Given the description of an element on the screen output the (x, y) to click on. 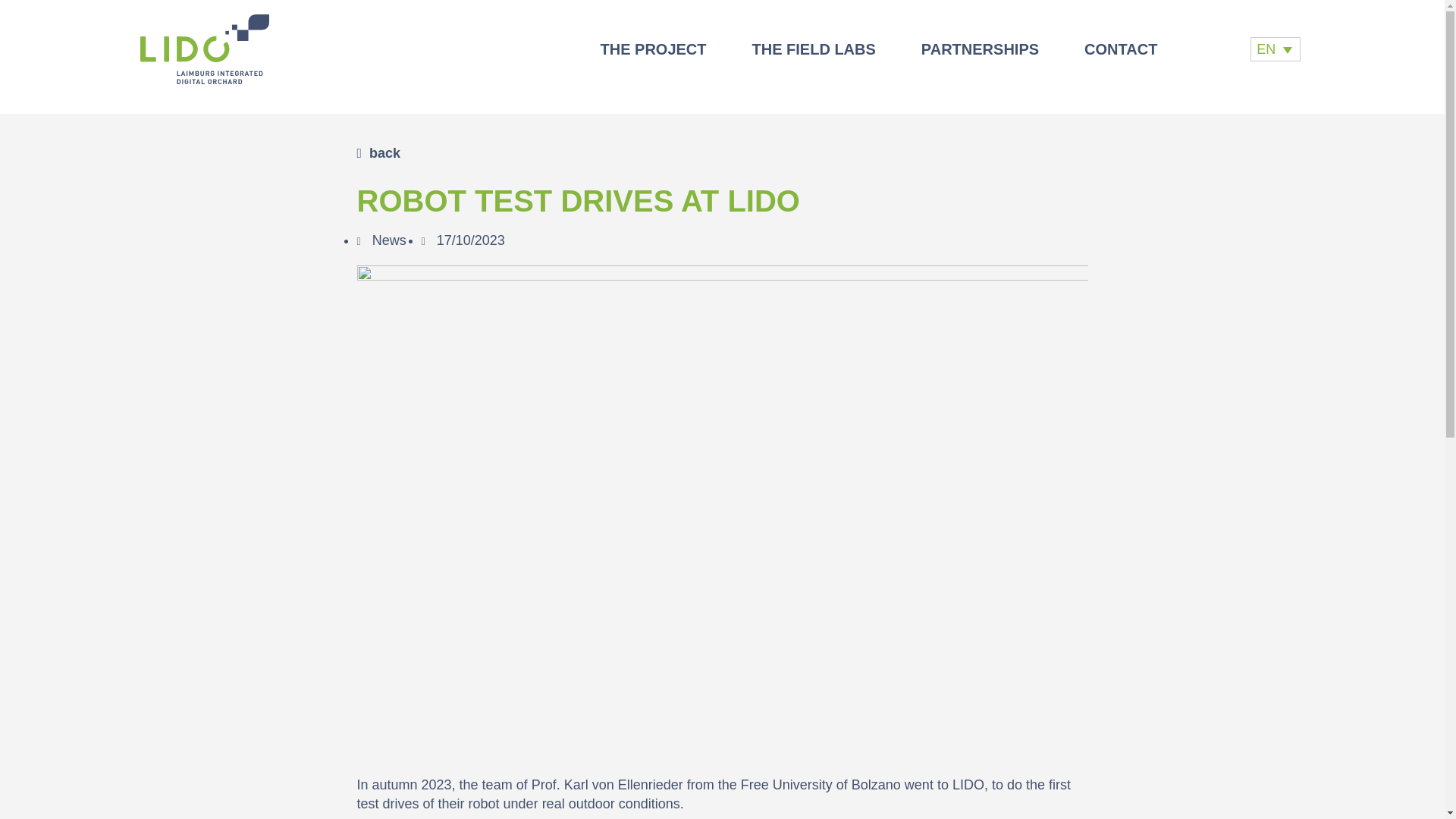
EN (1275, 48)
back (378, 153)
CONTACT (1120, 48)
THE PROJECT (652, 48)
THE FIELD LABS (813, 48)
PARTNERSHIPS (979, 48)
